Given the description of an element on the screen output the (x, y) to click on. 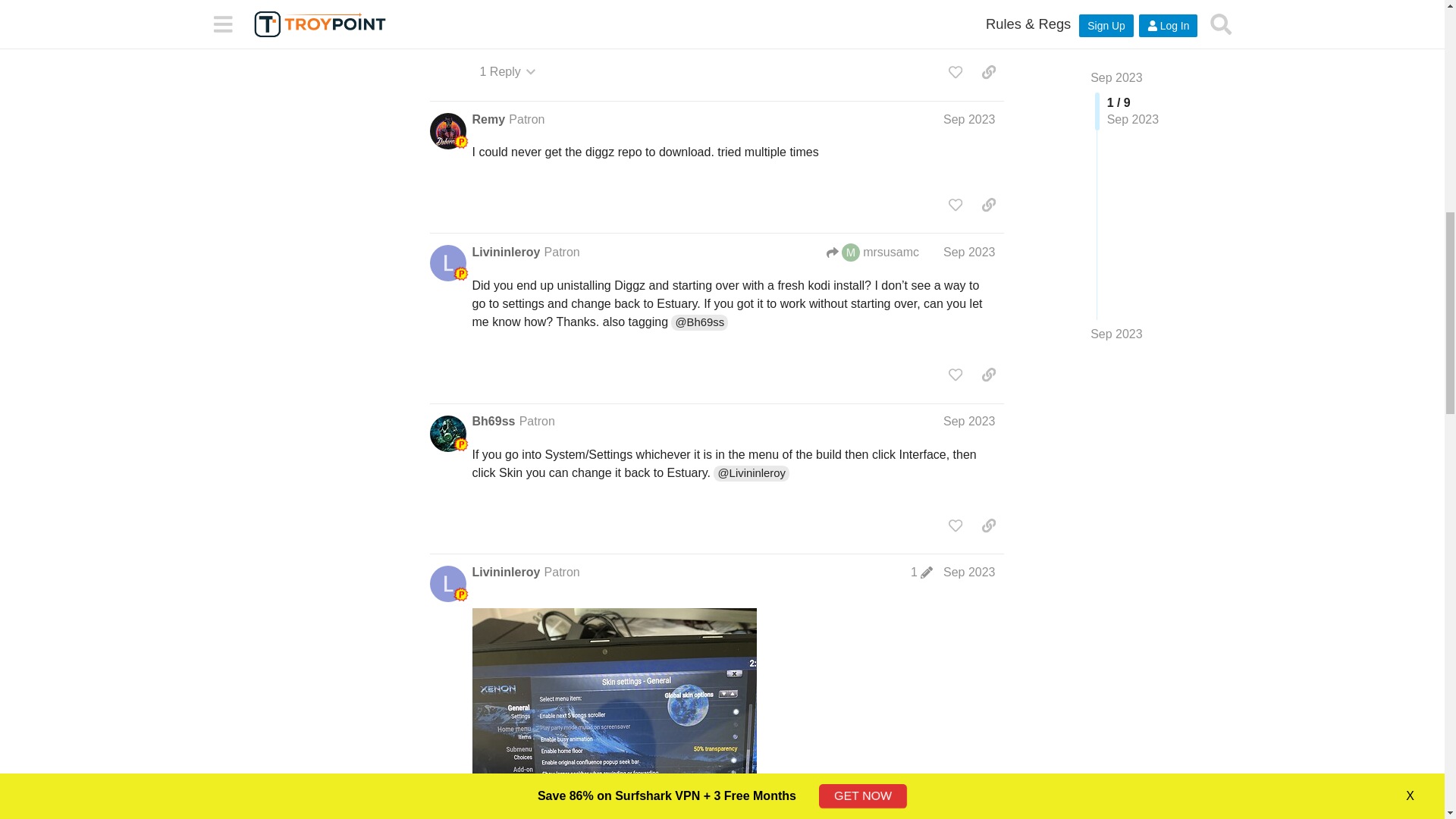
Keyboard Shortcuts (384, 32)
